Given the description of an element on the screen output the (x, y) to click on. 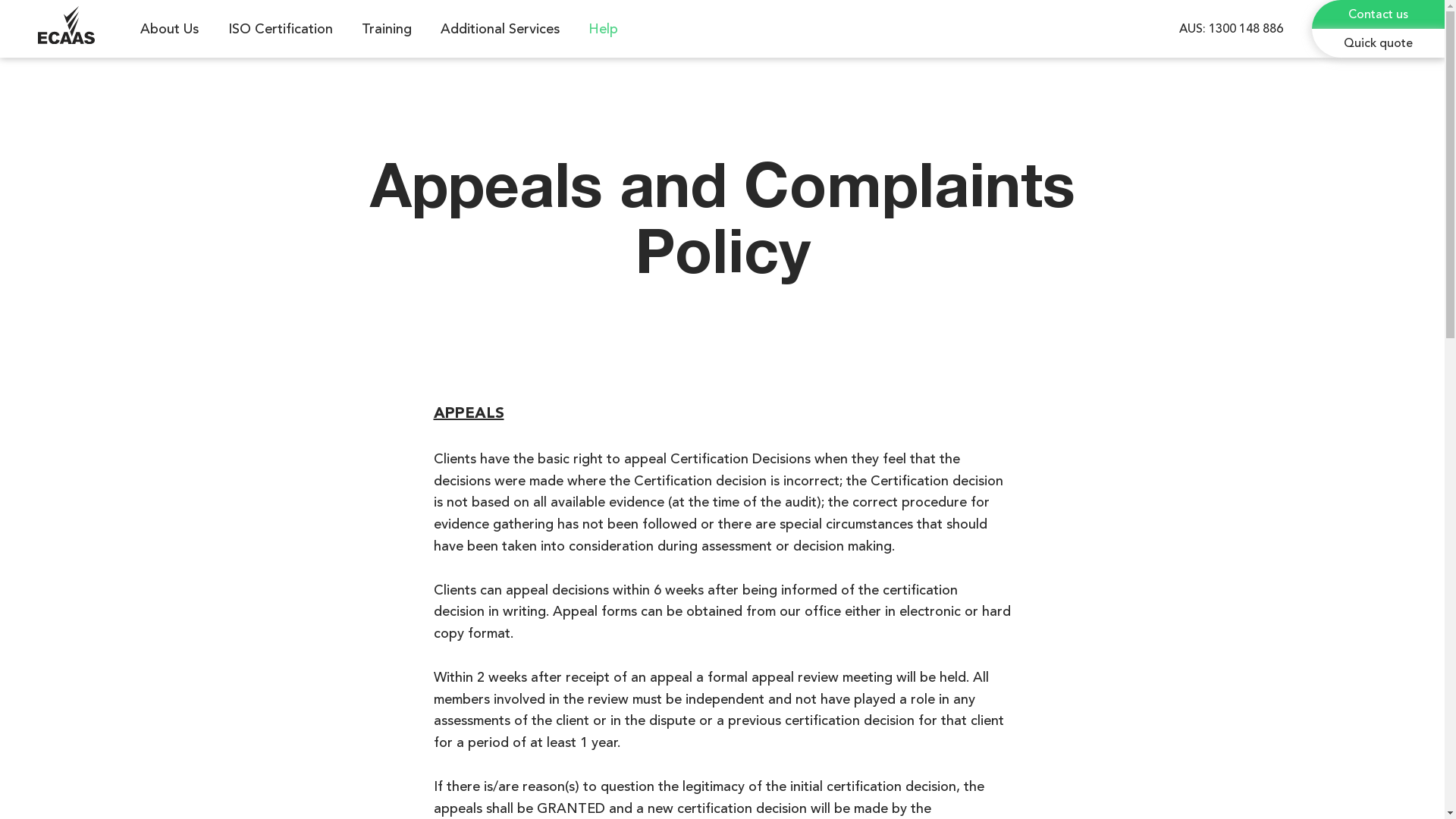
AUS: 1300 148 886 Element type: text (1230, 28)
Quick quote Element type: text (1377, 42)
Training Element type: text (389, 28)
Contact us Element type: text (1377, 14)
About Us Element type: text (172, 28)
Help Element type: text (606, 28)
ISO Certification Element type: text (283, 28)
